Given the description of an element on the screen output the (x, y) to click on. 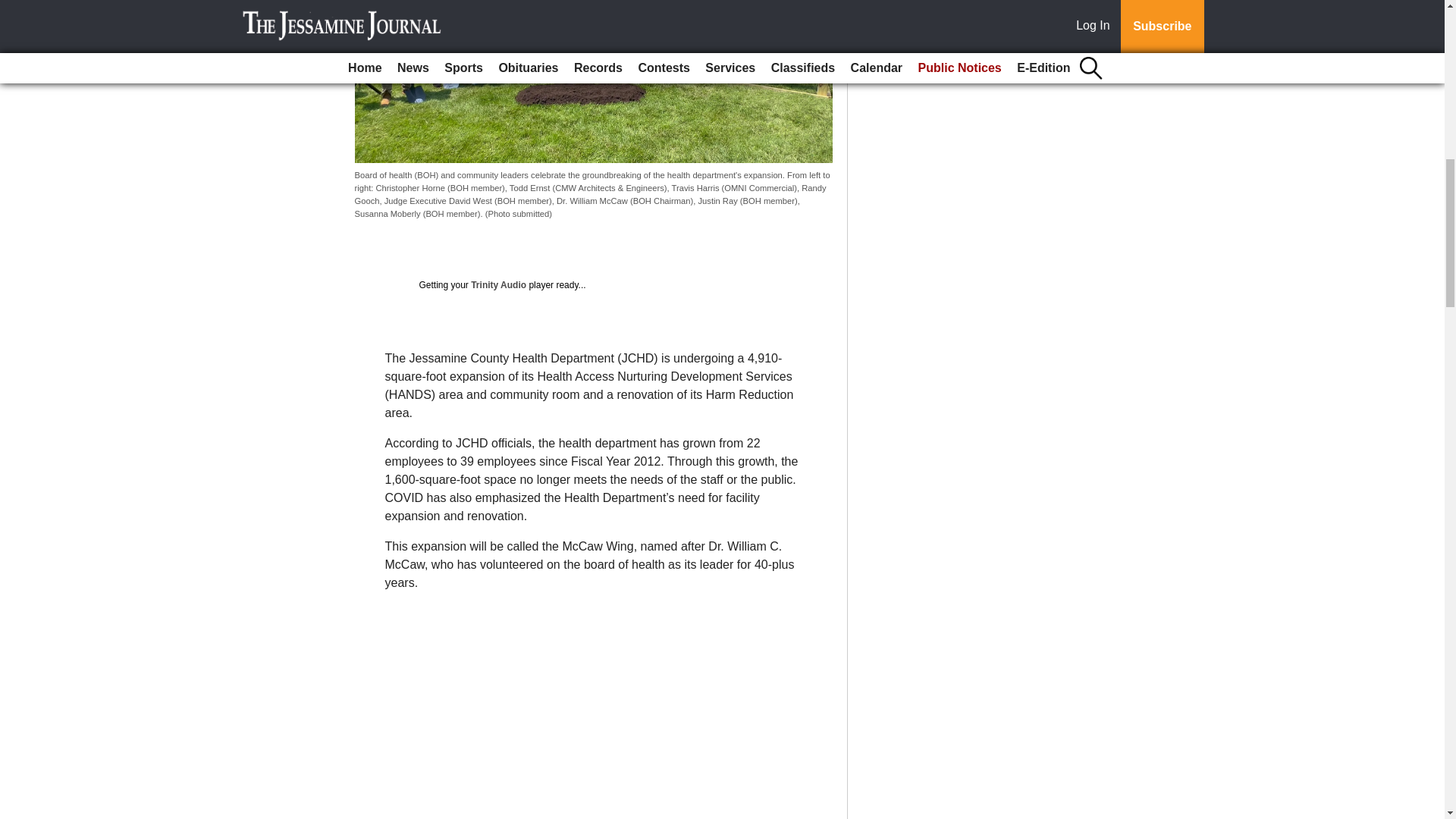
Trinity Audio (497, 285)
